Given the description of an element on the screen output the (x, y) to click on. 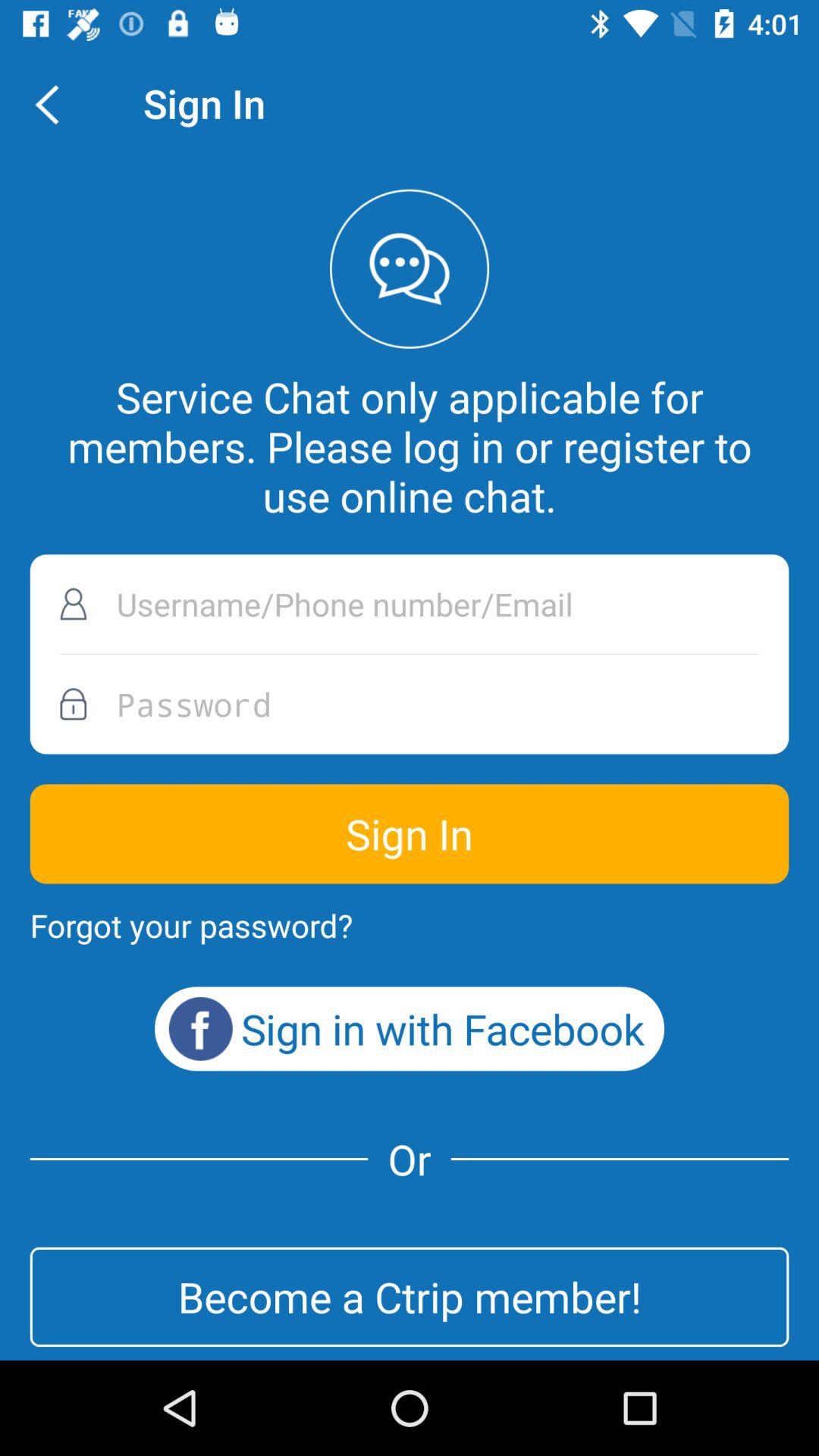
jump until the forgot your password? (191, 924)
